Given the description of an element on the screen output the (x, y) to click on. 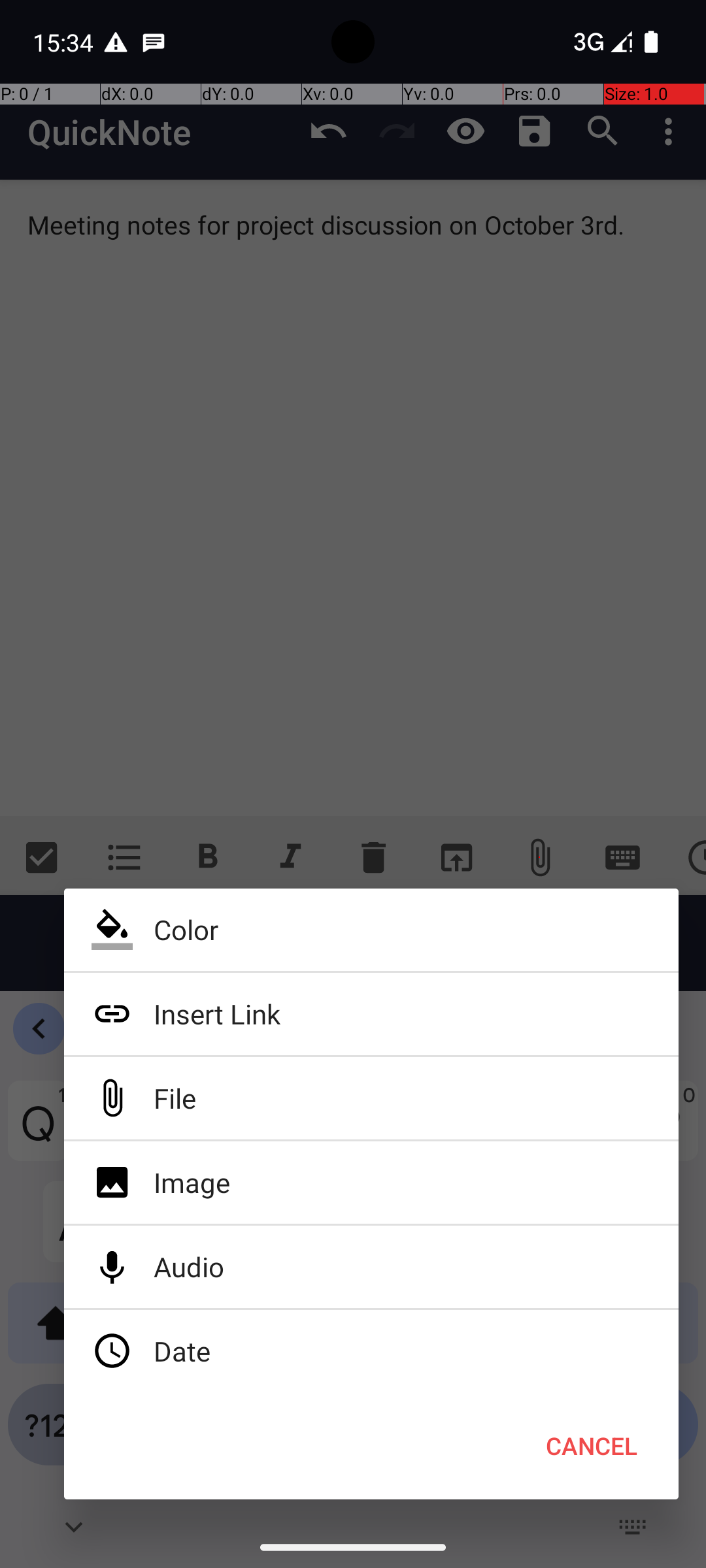
Insert Link Element type: android.widget.TextView (371, 1013)
File Element type: android.widget.TextView (371, 1098)
Image Element type: android.widget.TextView (371, 1182)
